Given the description of an element on the screen output the (x, y) to click on. 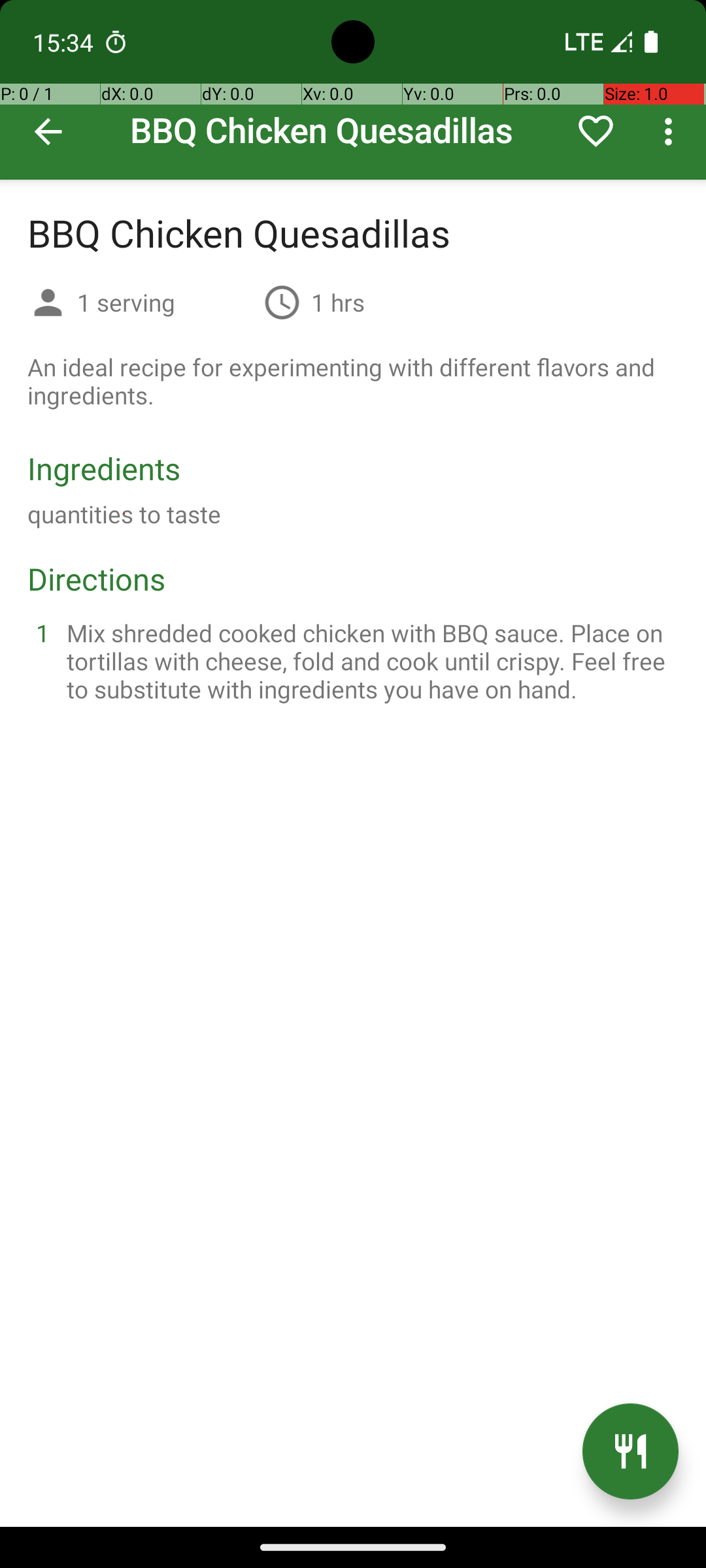
Mix shredded cooked chicken with BBQ sauce. Place on tortillas with cheese, fold and cook until crispy. Feel free to substitute with ingredients you have on hand. Element type: android.widget.TextView (368, 660)
